Given the description of an element on the screen output the (x, y) to click on. 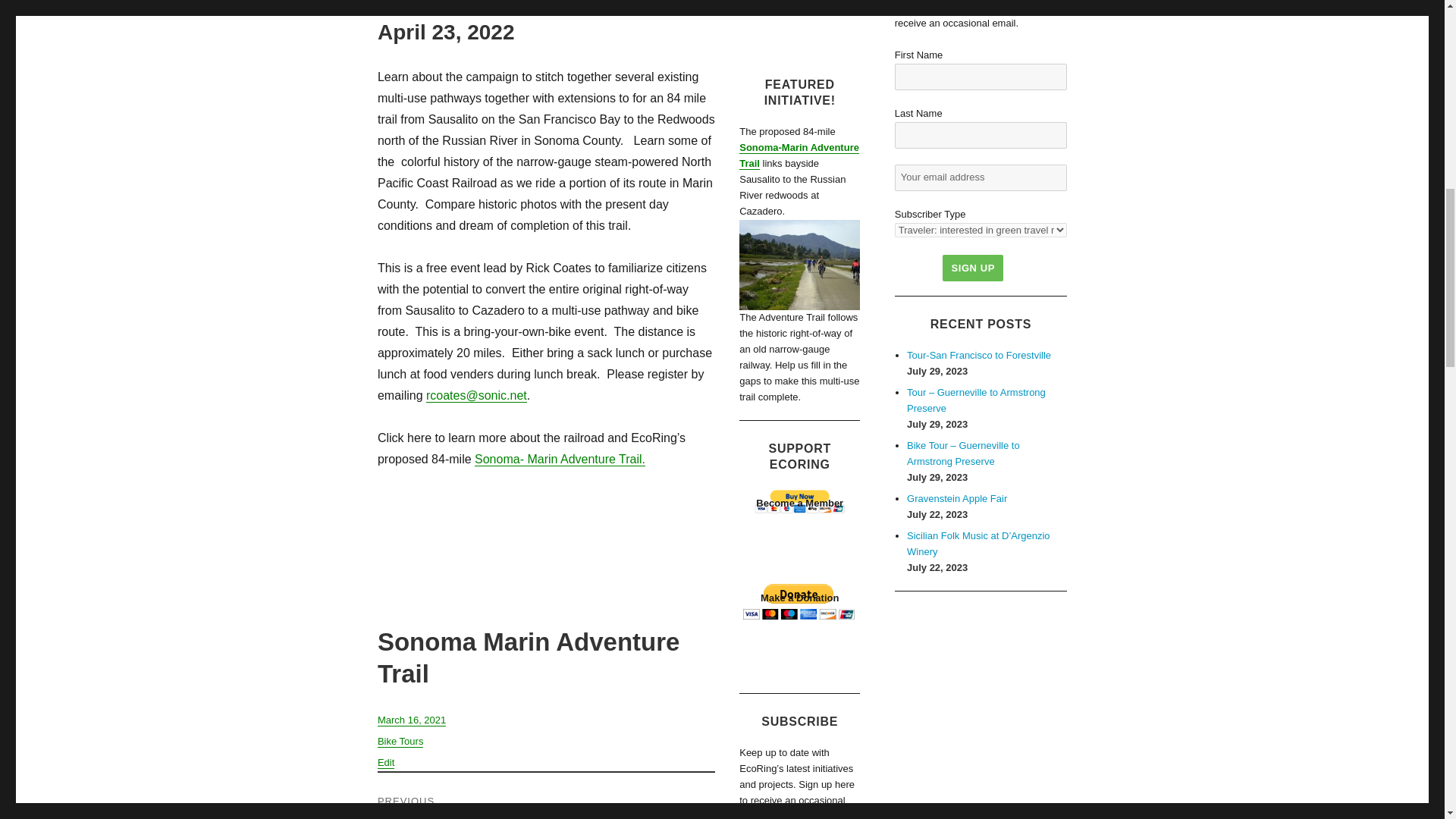
PayPal - The safer, easier way to pay online! (798, 601)
Sign up (972, 267)
Sonoma- Marin Adventure Trail. (559, 459)
